Given the description of an element on the screen output the (x, y) to click on. 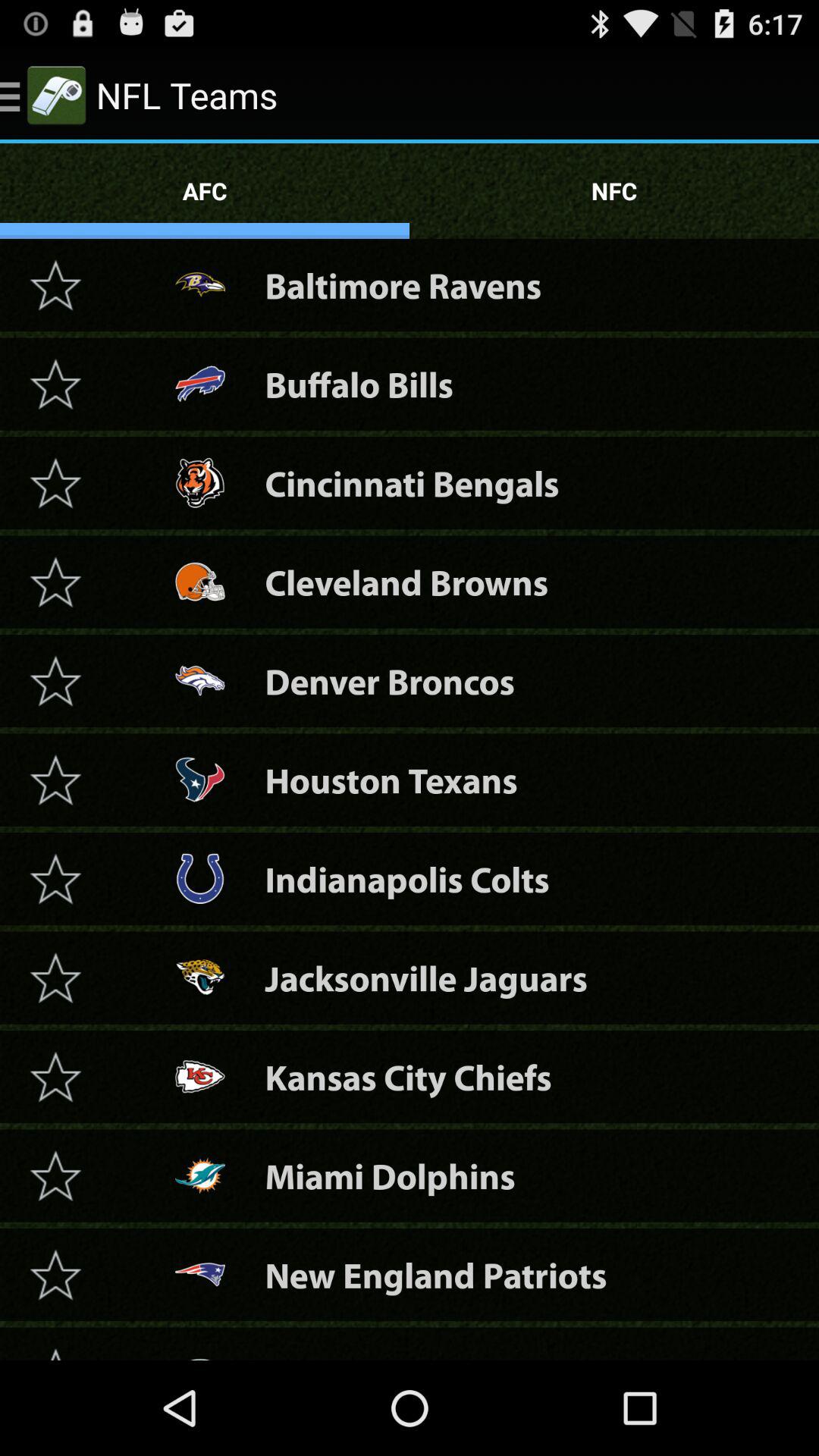
add to favorits (55, 977)
